Given the description of an element on the screen output the (x, y) to click on. 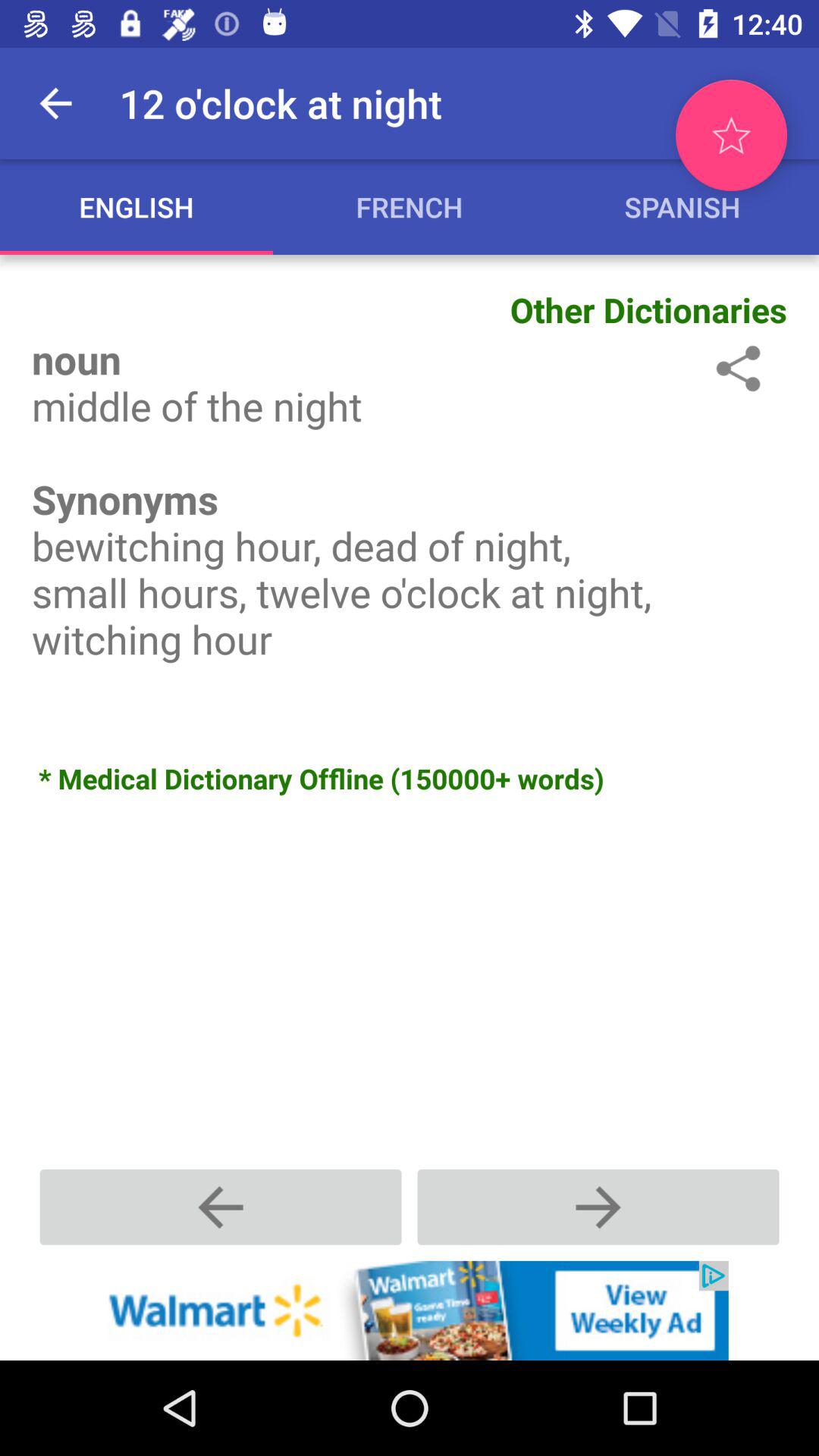
go to previous (220, 1206)
